Given the description of an element on the screen output the (x, y) to click on. 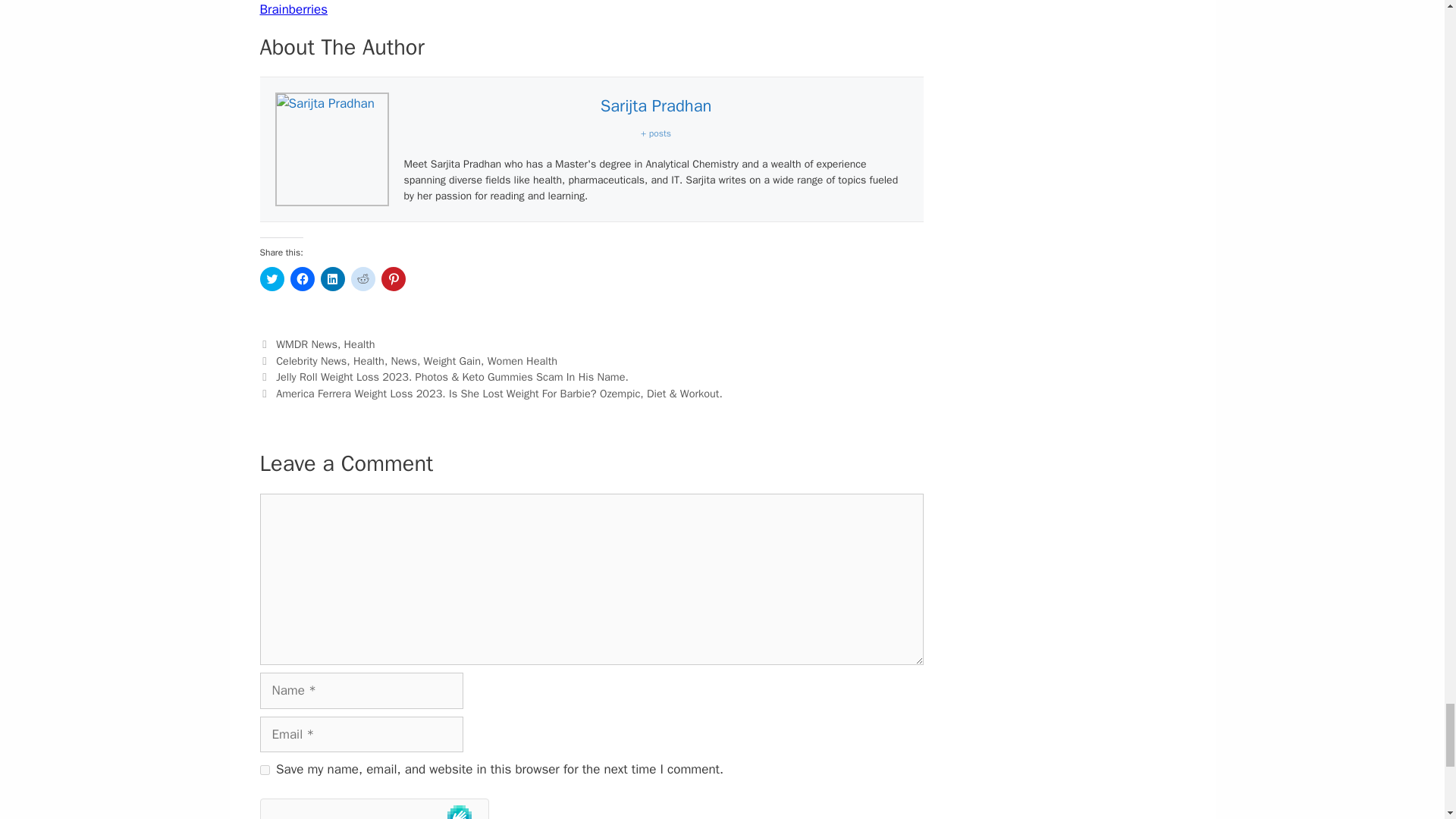
Sarijta Pradhan (655, 106)
Celebrity News (311, 360)
Click to share on Twitter (271, 278)
Click to share on Reddit (362, 278)
Click to share on Facebook (301, 278)
Click to share on LinkedIn (331, 278)
Health (368, 360)
yes (264, 769)
WMDR News (306, 344)
Health (359, 344)
